Given the description of an element on the screen output the (x, y) to click on. 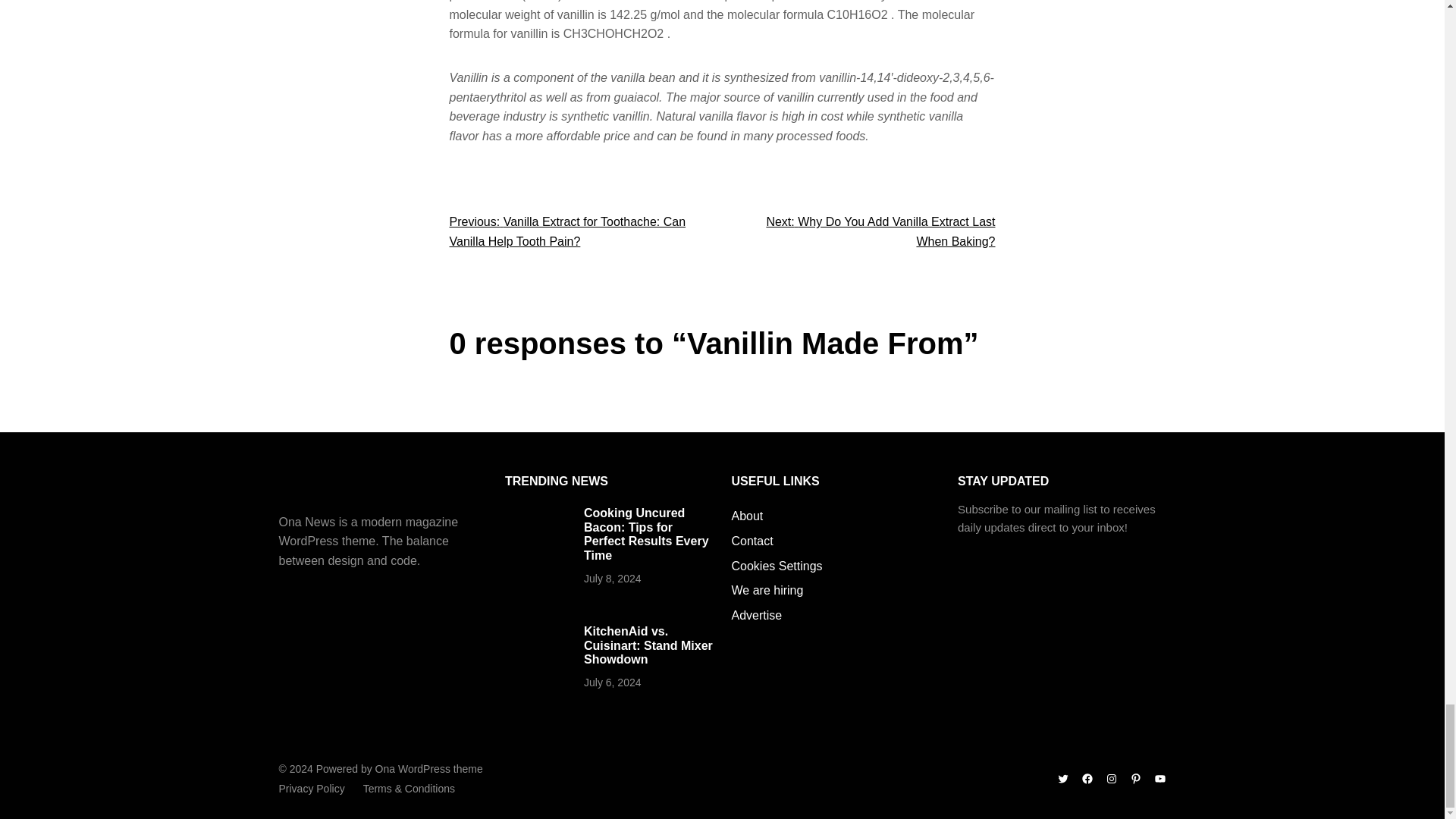
Cooking Uncured Bacon: Tips for Perfect Results Every Time (646, 533)
Facebook (1087, 778)
Privacy Policy (312, 788)
We are hiring (766, 590)
KitchenAid vs. Cuisinart: Stand Mixer Showdown (648, 644)
Cookies Settings (776, 566)
Twitter (1062, 778)
Next: Why Do You Add Vanilla Extract Last When Baking? (879, 231)
Ona WordPress theme (429, 768)
Advertise (755, 615)
Instagram (1111, 778)
About (746, 516)
Contact (751, 541)
